Given the description of an element on the screen output the (x, y) to click on. 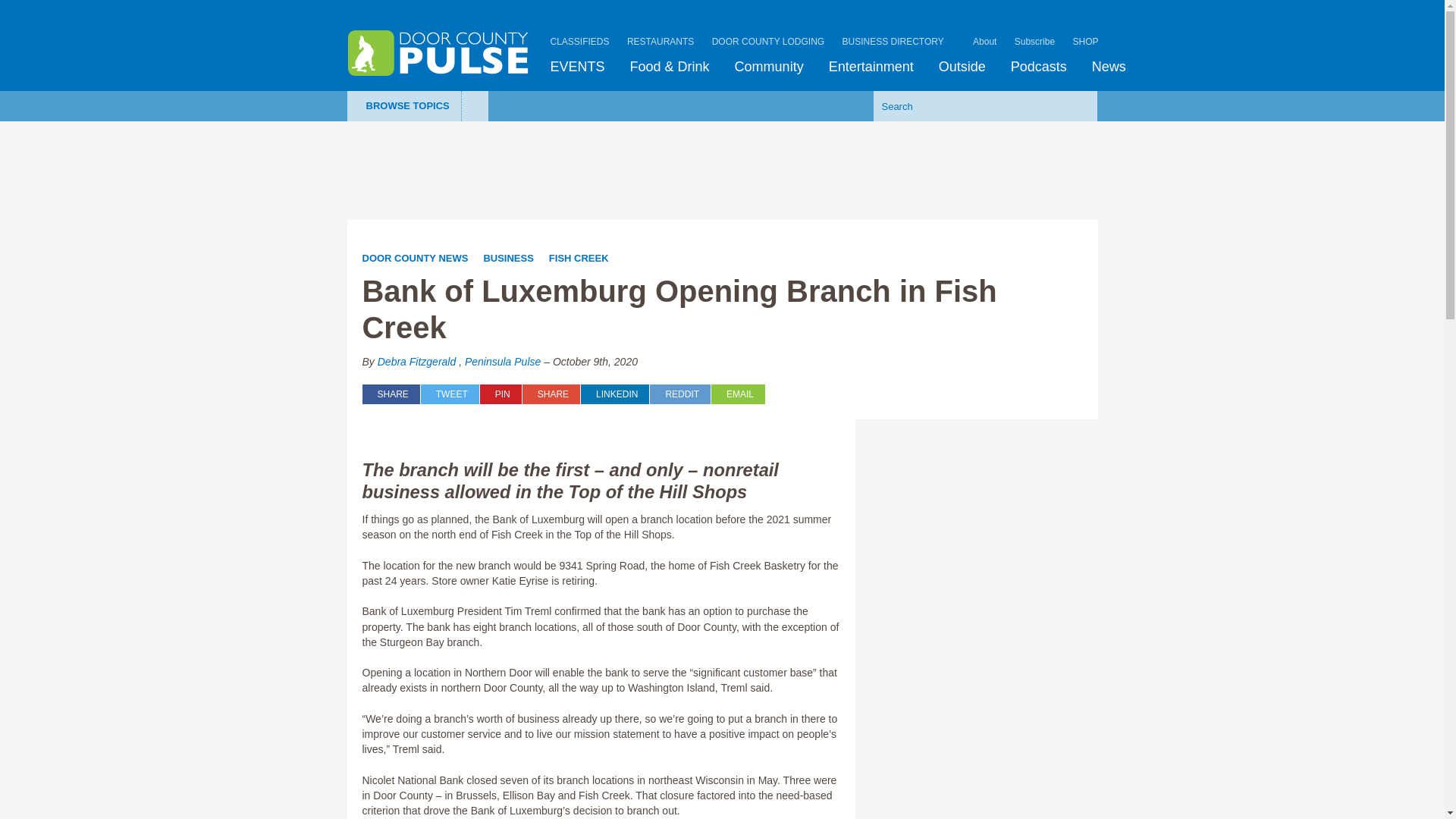
Entertainment (871, 66)
Outside (961, 66)
Door County Pulse (437, 53)
EVENTS (577, 66)
Posts by Debra Fitzgerald (417, 361)
Search for: (962, 105)
Community (768, 66)
